Given the description of an element on the screen output the (x, y) to click on. 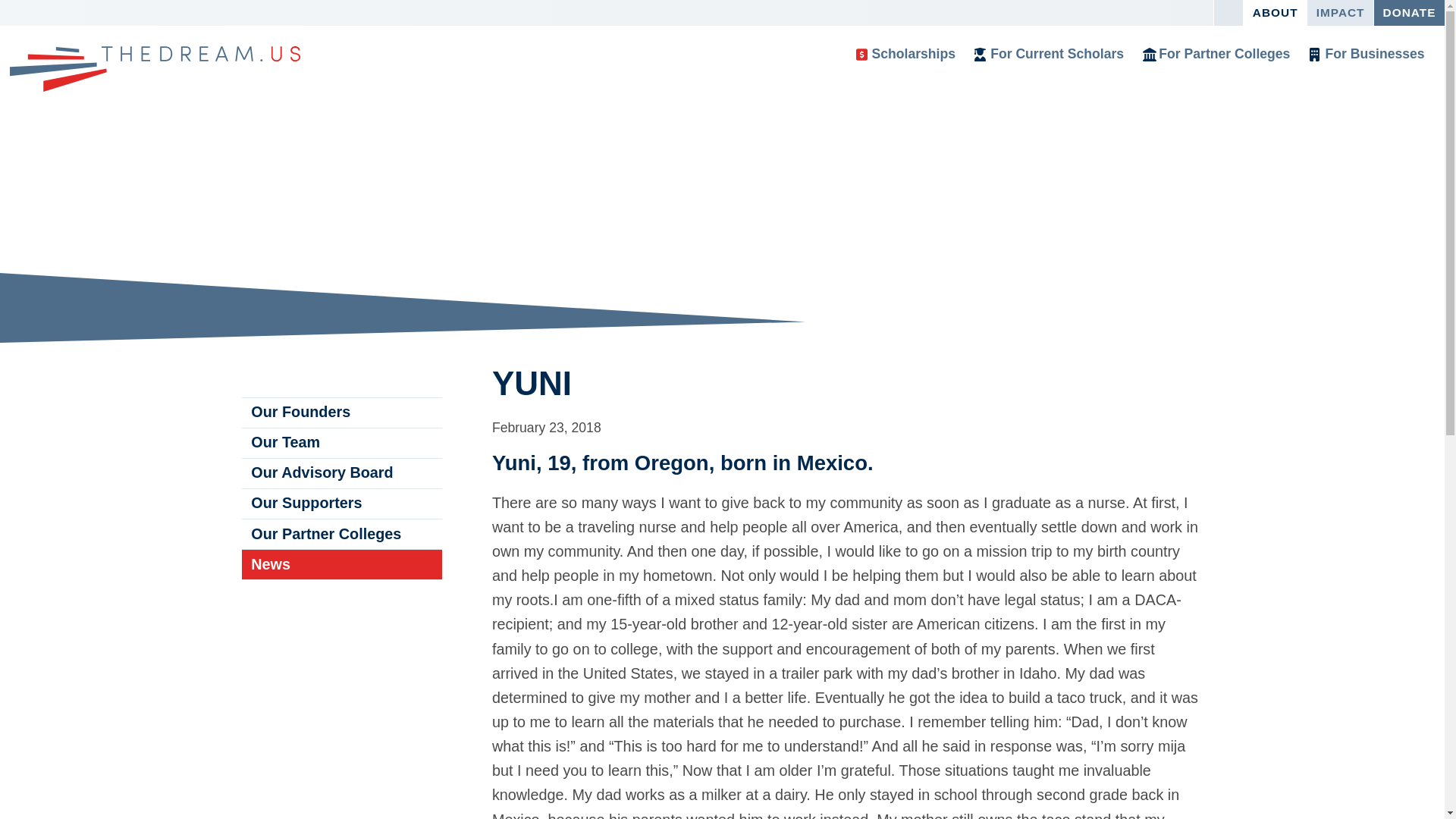
For Current Scholars (1049, 54)
IMPACT (1340, 12)
Scholarships (905, 54)
For Businesses (1367, 54)
ABOUT (1274, 12)
For Partner Colleges (1217, 54)
Search for: (1224, 12)
SEARCH (1227, 12)
